Given the description of an element on the screen output the (x, y) to click on. 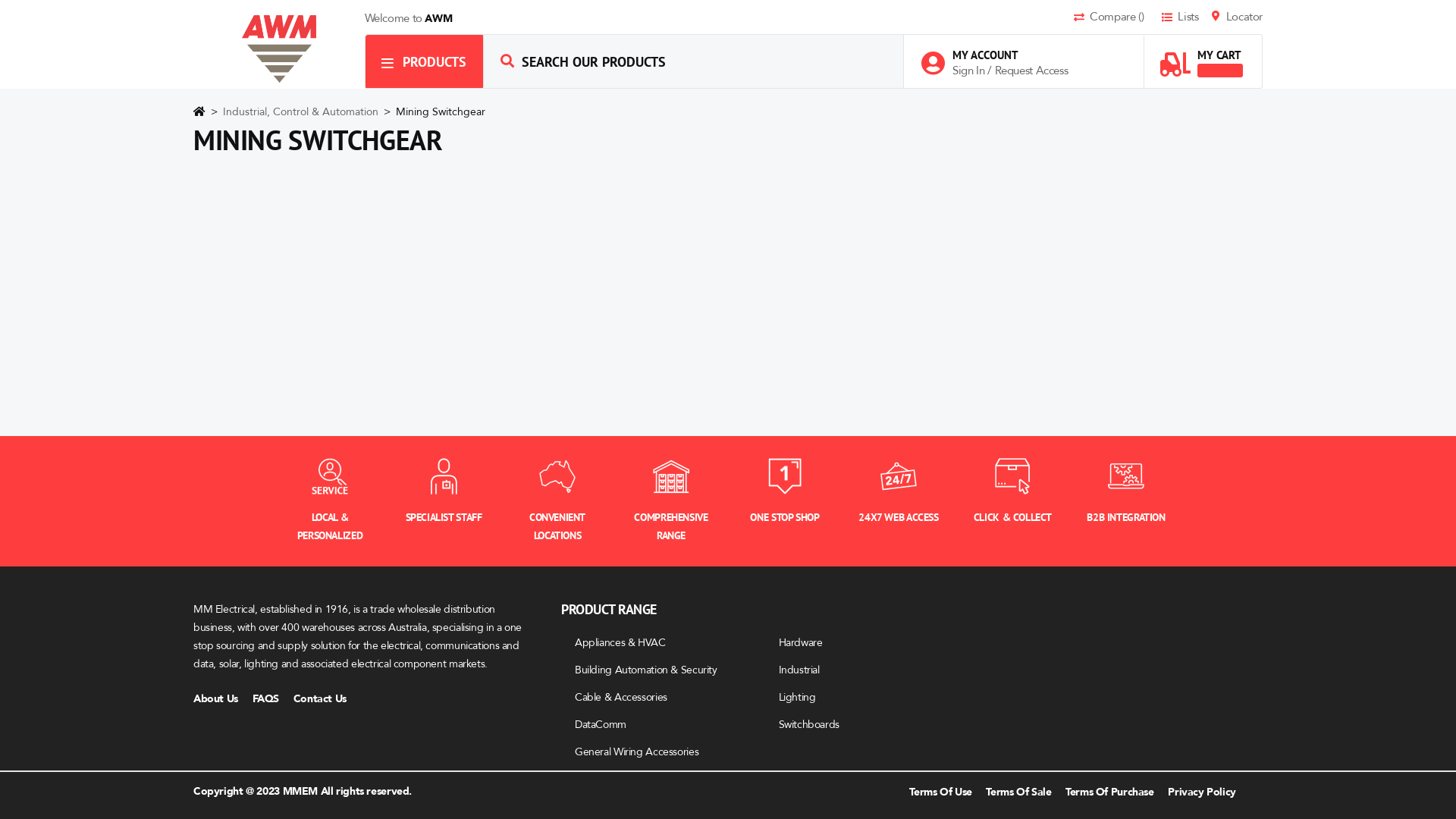
Terms Of Purchase Element type: text (1109, 791)
One stop shop Element type: hover (784, 476)
Specialist staff Element type: hover (443, 476)
AWM Electrical Element type: hover (278, 49)
B2B integration Element type: hover (1125, 476)
Compare Element type: text (1115, 17)
Building Automation & Security Element type: text (645, 669)
Lists Element type: text (1184, 17)
24x7 Web Access Element type: hover (898, 476)
Hardware Element type: text (800, 642)
Privacy Policy Element type: text (1201, 791)
FAQS Element type: text (271, 698)
Terms Of Sale Element type: text (1018, 791)
DataComm Element type: text (600, 724)
Contact Us Element type: text (325, 698)
About Us Element type: text (221, 698)
Comprehensive range Element type: hover (670, 476)
Switchboards Element type: text (808, 724)
Lighting Element type: text (796, 697)
Search Element type: text (507, 60)
Convenient locations Element type: hover (557, 476)
Request Access Element type: text (1031, 70)
Local & Personalized Element type: hover (329, 476)
MY ACCOUNT Element type: text (1001, 54)
Industrial Element type: text (798, 669)
Click & Collect Element type: hover (1012, 476)
Industrial, Control & Automation Element type: text (301, 111)
Terms Of Use Element type: text (940, 791)
MY CART Element type: text (1200, 55)
Home Element type: text (199, 114)
General Wiring Accessories Element type: text (636, 751)
Sign In Element type: text (969, 70)
Appliances & HVAC Element type: text (619, 642)
AWM Electrical Element type: hover (278, 49)
Cable & Accessories Element type: text (620, 697)
Locator Element type: text (1236, 17)
